Given the description of an element on the screen output the (x, y) to click on. 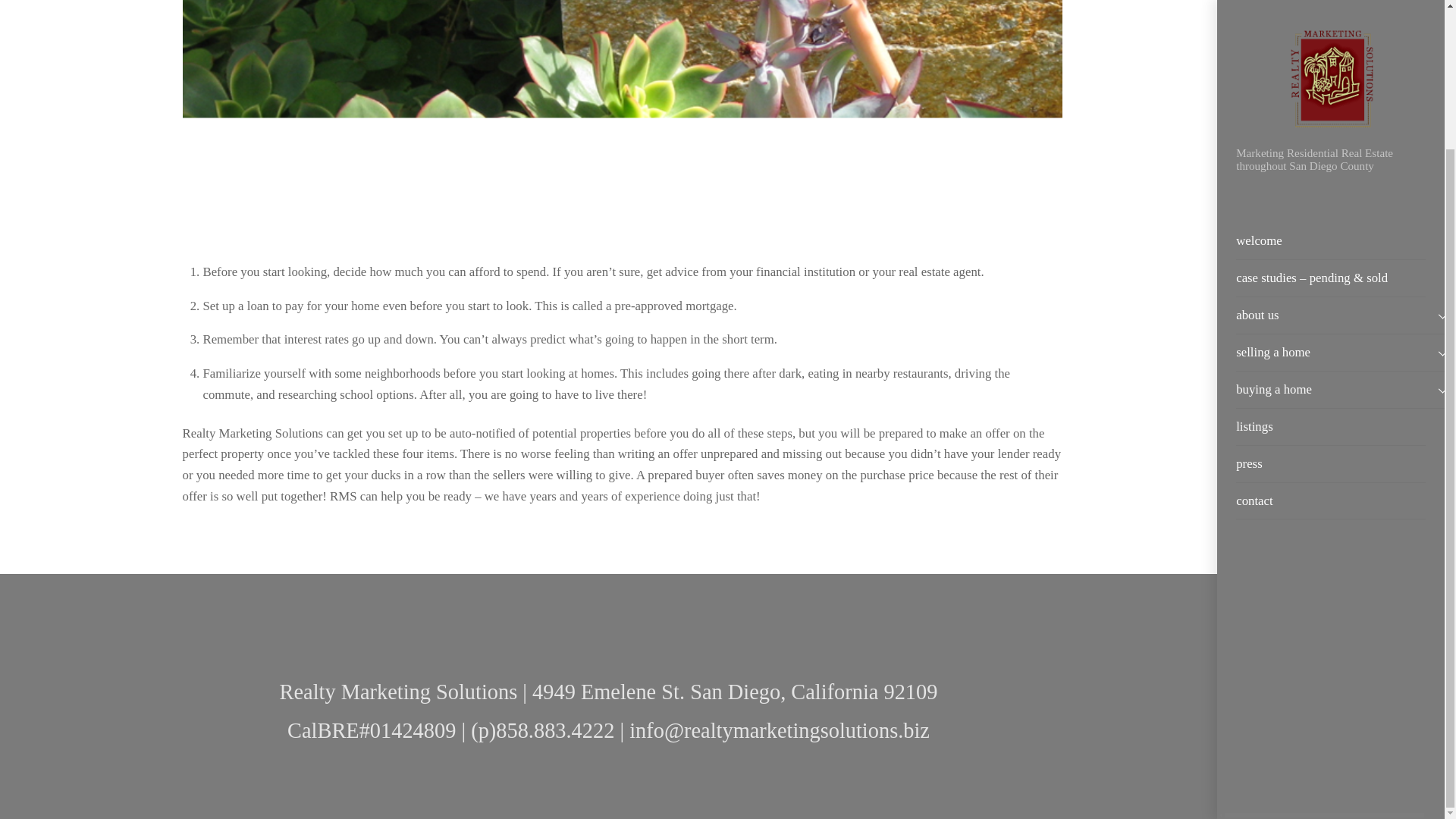
contact (1330, 329)
listings (1330, 255)
welcome (1330, 69)
press (1330, 293)
